Given the description of an element on the screen output the (x, y) to click on. 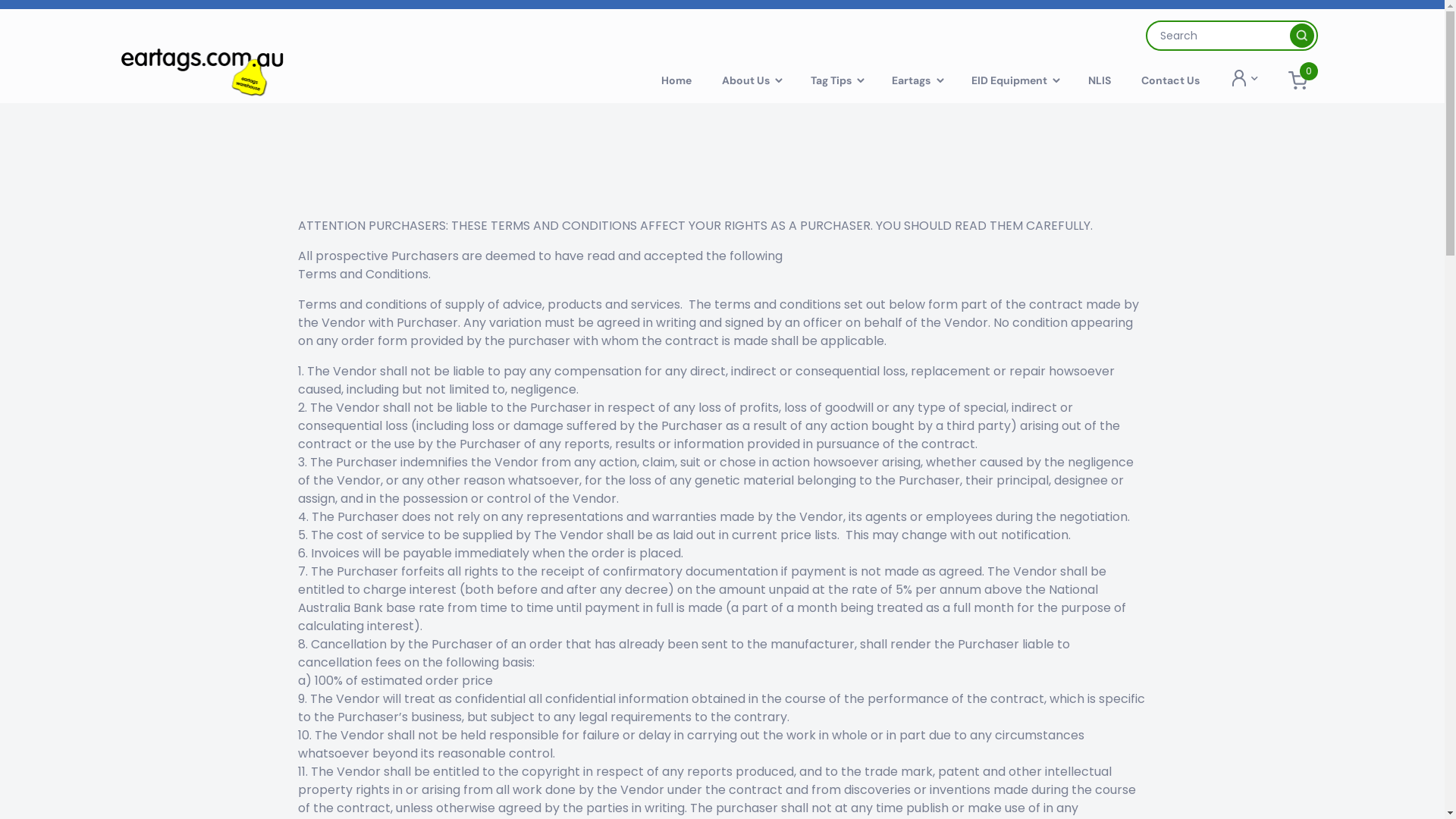
Search for: Element type: hover (1231, 35)
Eartags Element type: text (916, 80)
NLIS Element type: text (1099, 80)
Contact Us Element type: text (1170, 80)
0 Element type: text (1299, 80)
About Us Element type: text (750, 80)
EID Equipment Element type: text (1014, 80)
Home Element type: text (676, 80)
Tag Tips Element type: text (836, 80)
eartags Element type: hover (213, 70)
